Given the description of an element on the screen output the (x, y) to click on. 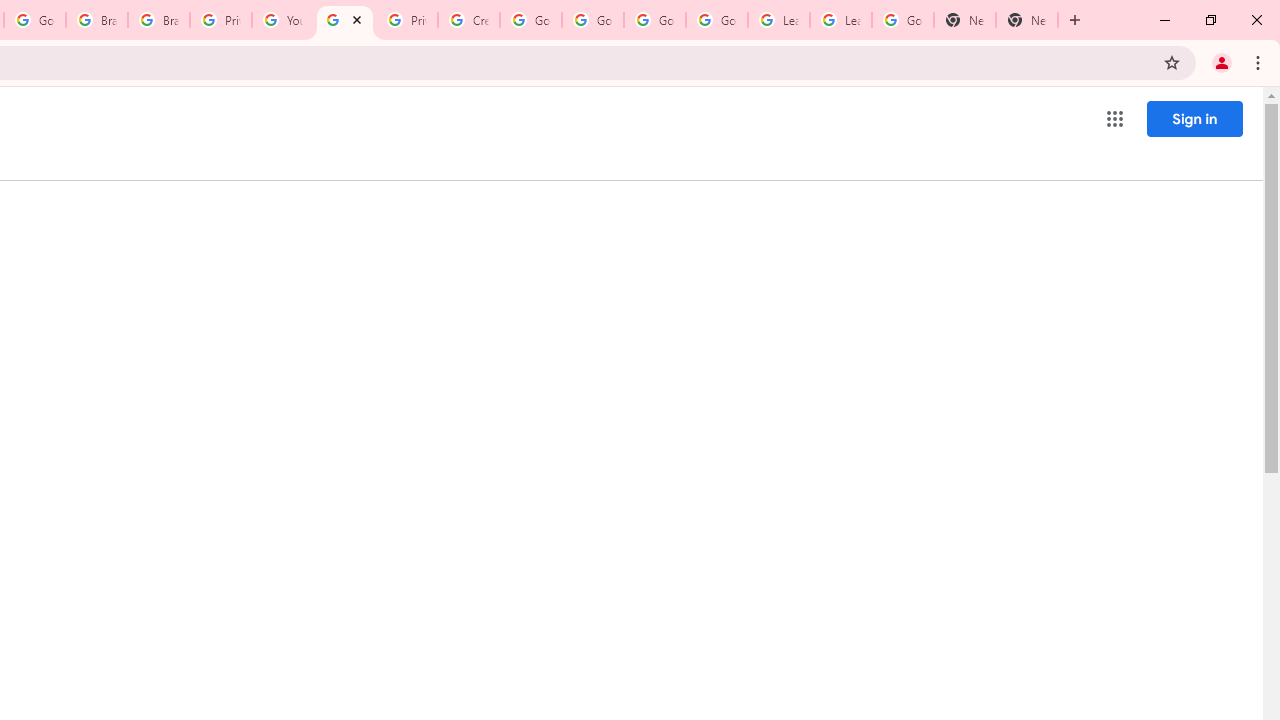
Google Account Help (716, 20)
Google Account Help (530, 20)
Brand Resource Center (158, 20)
Google Account Help (592, 20)
Google Account (902, 20)
Create your Google Account (468, 20)
